Given the description of an element on the screen output the (x, y) to click on. 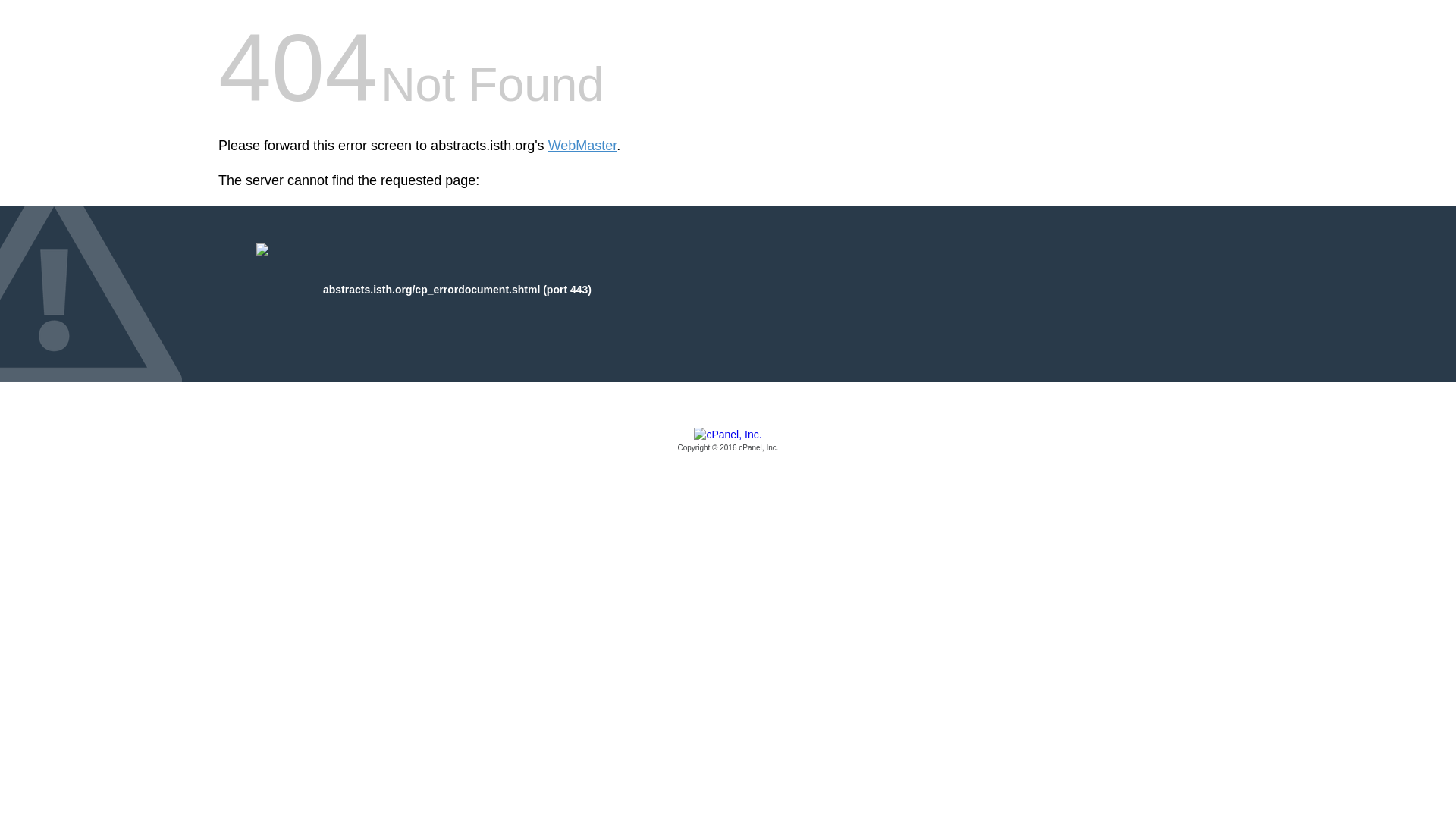
WebMaster (582, 145)
cPanel, Inc. (727, 440)
